Given the description of an element on the screen output the (x, y) to click on. 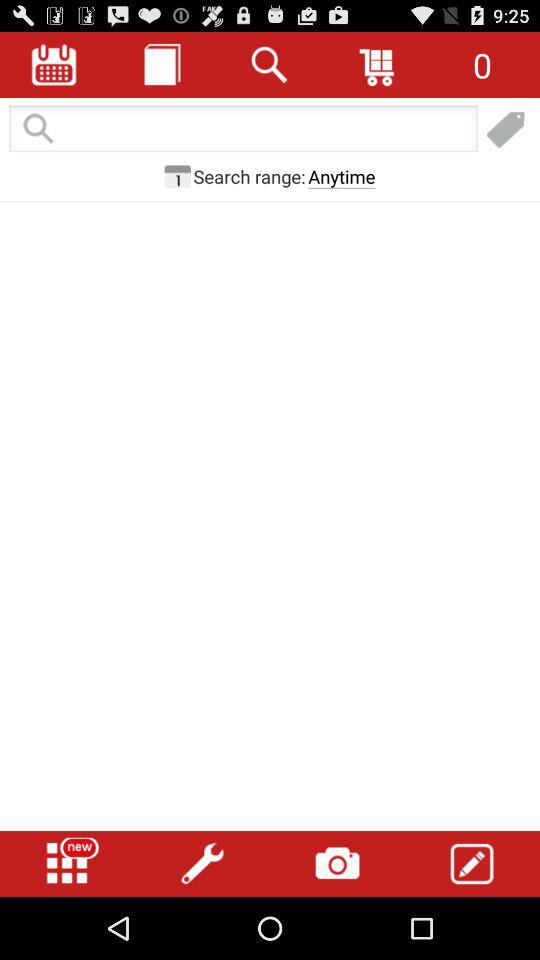
new feature button (67, 863)
